Given the description of an element on the screen output the (x, y) to click on. 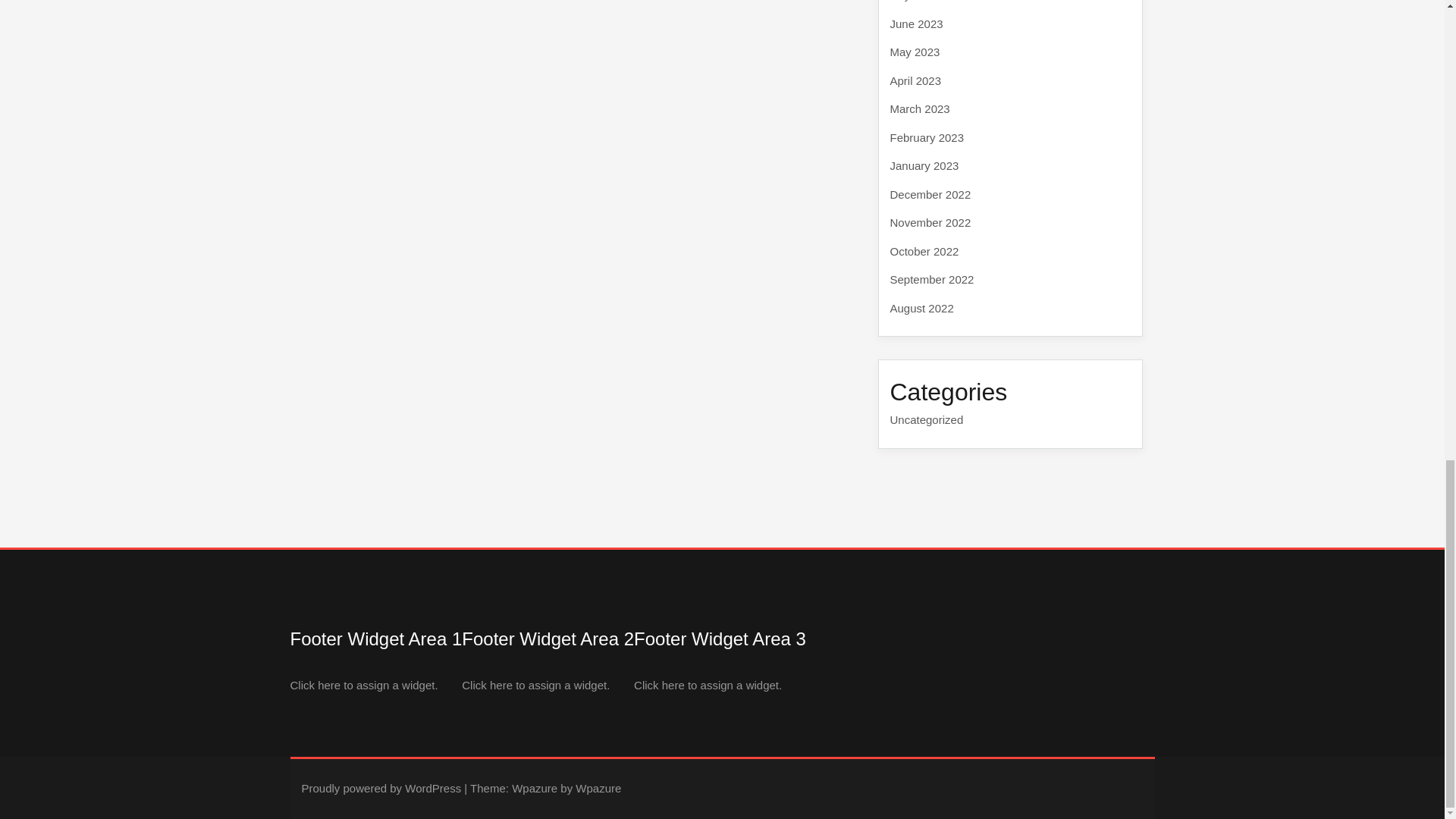
May 2023 (914, 51)
June 2023 (916, 22)
December 2022 (930, 194)
February 2023 (926, 136)
March 2023 (919, 108)
November 2022 (930, 222)
January 2023 (924, 164)
April 2023 (915, 80)
July 2023 (914, 0)
October 2022 (924, 250)
